Given the description of an element on the screen output the (x, y) to click on. 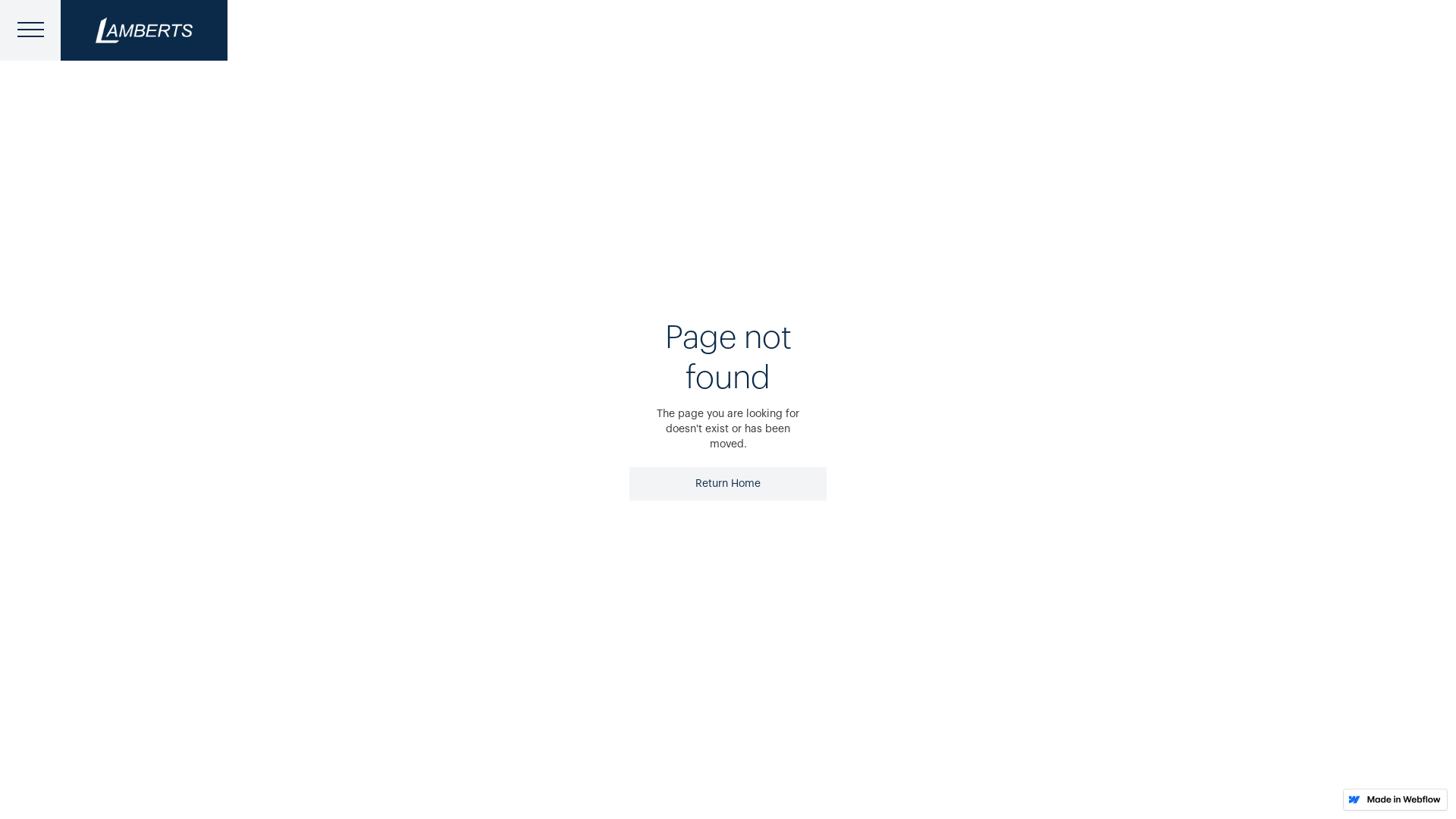
Return Home Element type: text (727, 483)
